Given the description of an element on the screen output the (x, y) to click on. 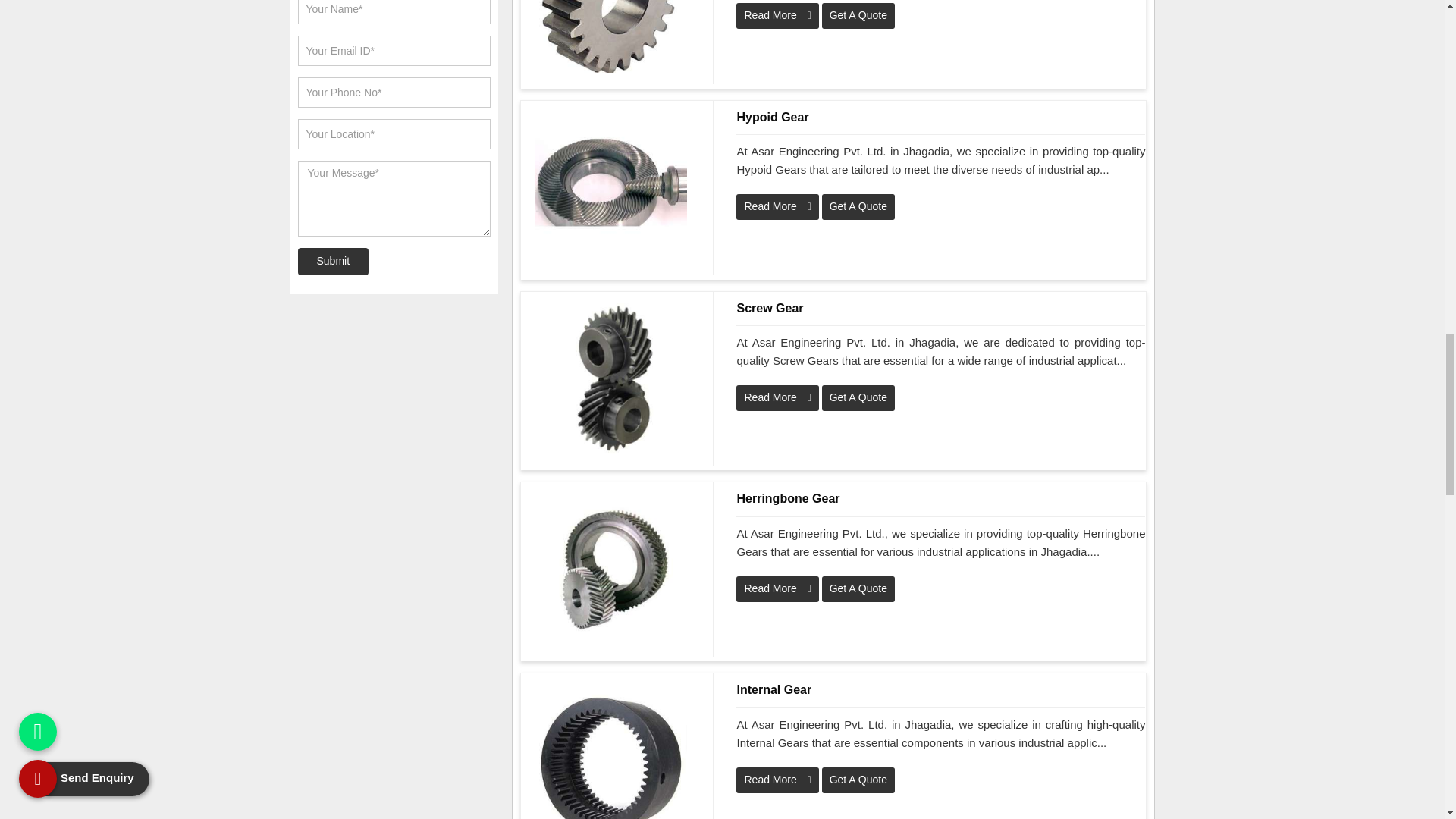
Read More (777, 397)
Get A Quote (858, 15)
Get A Quote (858, 397)
Herringbone Gear (940, 498)
Get A Quote (858, 207)
Hypoid Gear (940, 117)
Read More (777, 207)
Read More (777, 15)
Screw Gear (940, 307)
